Given the description of an element on the screen output the (x, y) to click on. 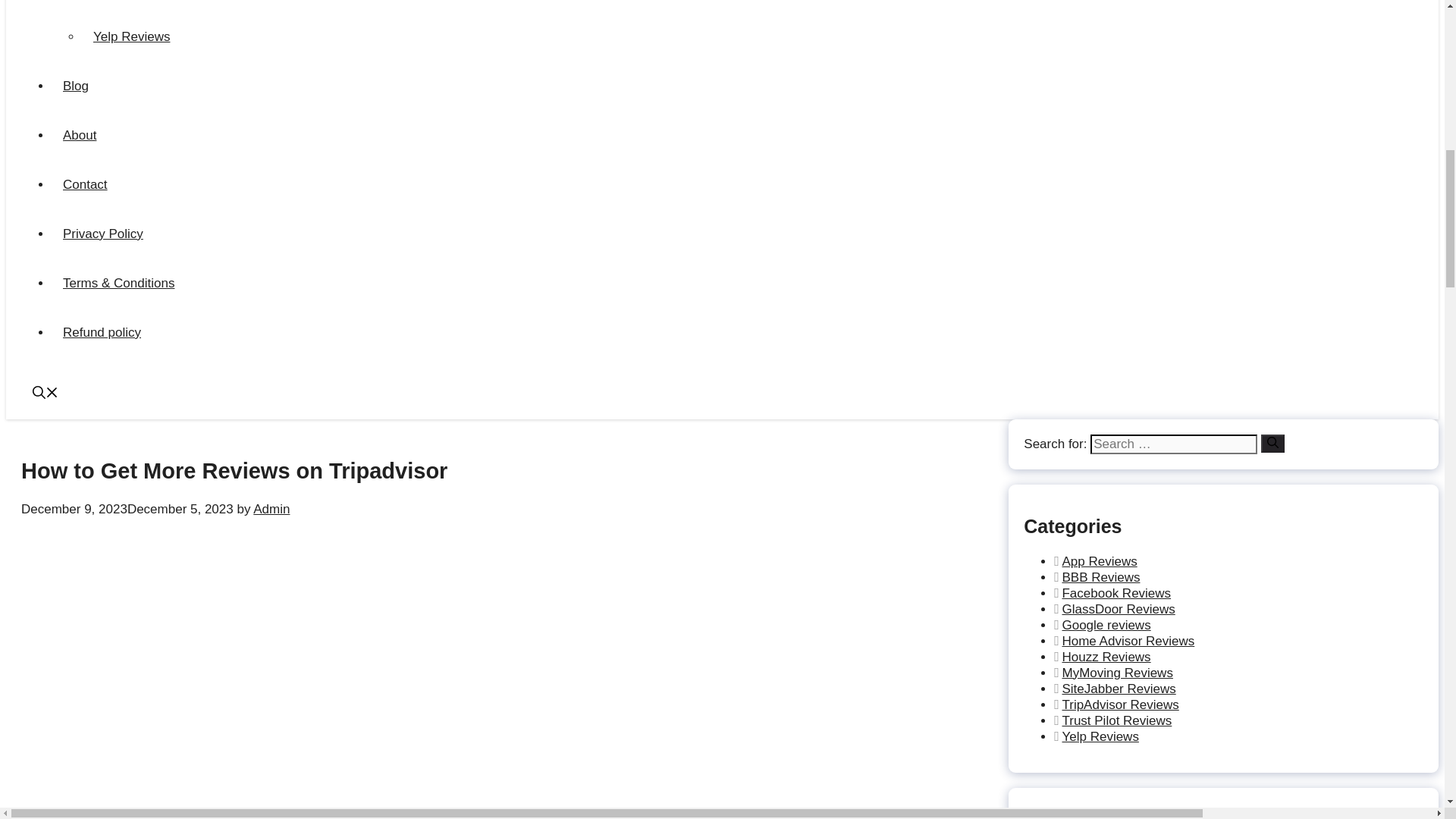
Search for: (1173, 444)
View all posts by Admin (271, 509)
Privacy Policy (102, 233)
Yelp Reviews (130, 36)
Admin (271, 509)
Contact (84, 184)
About (78, 134)
Refund policy (101, 332)
Trust Pilot Reviews (147, 1)
Blog (75, 85)
